Given the description of an element on the screen output the (x, y) to click on. 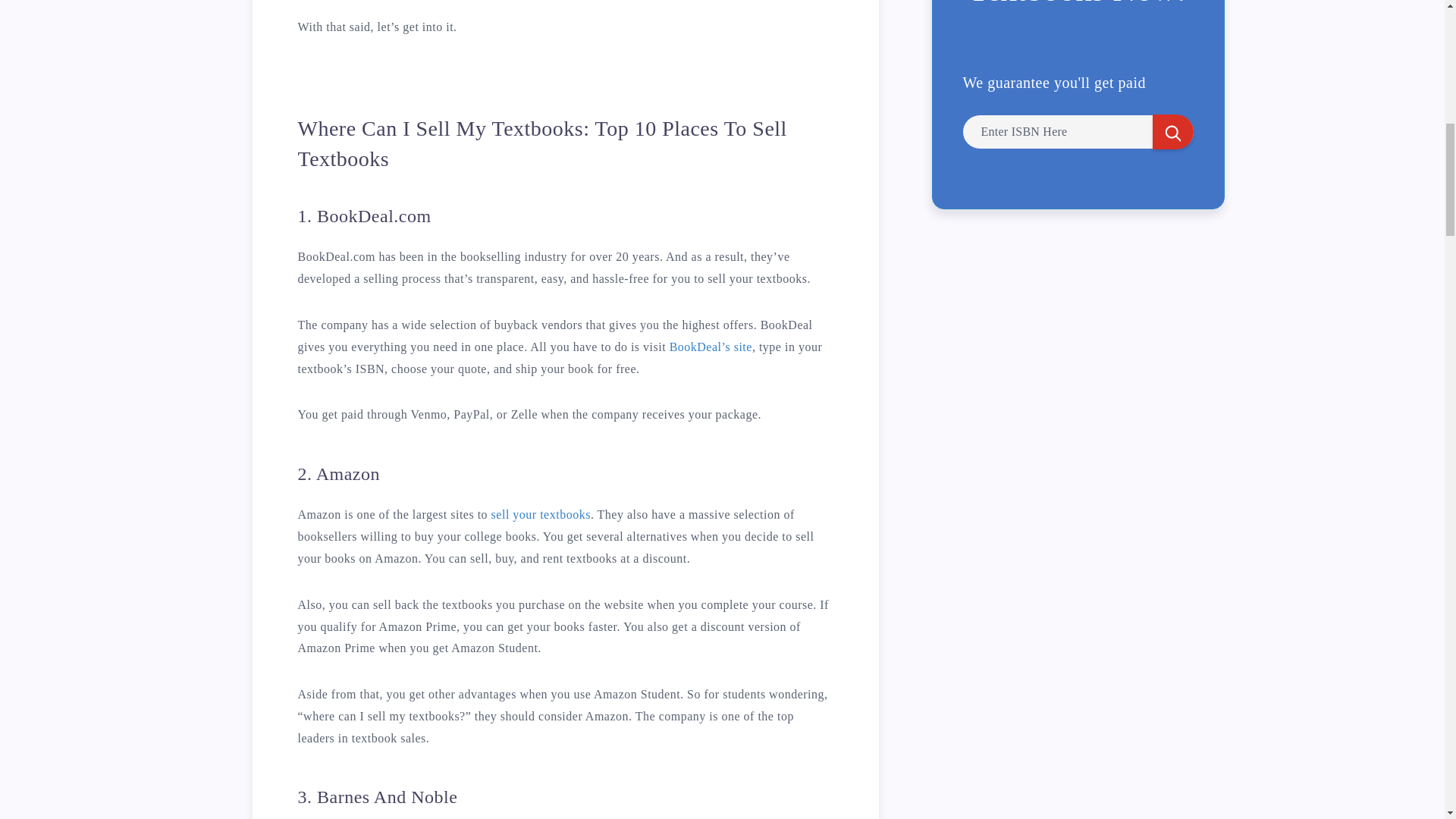
sell your textbooks (541, 513)
